Given the description of an element on the screen output the (x, y) to click on. 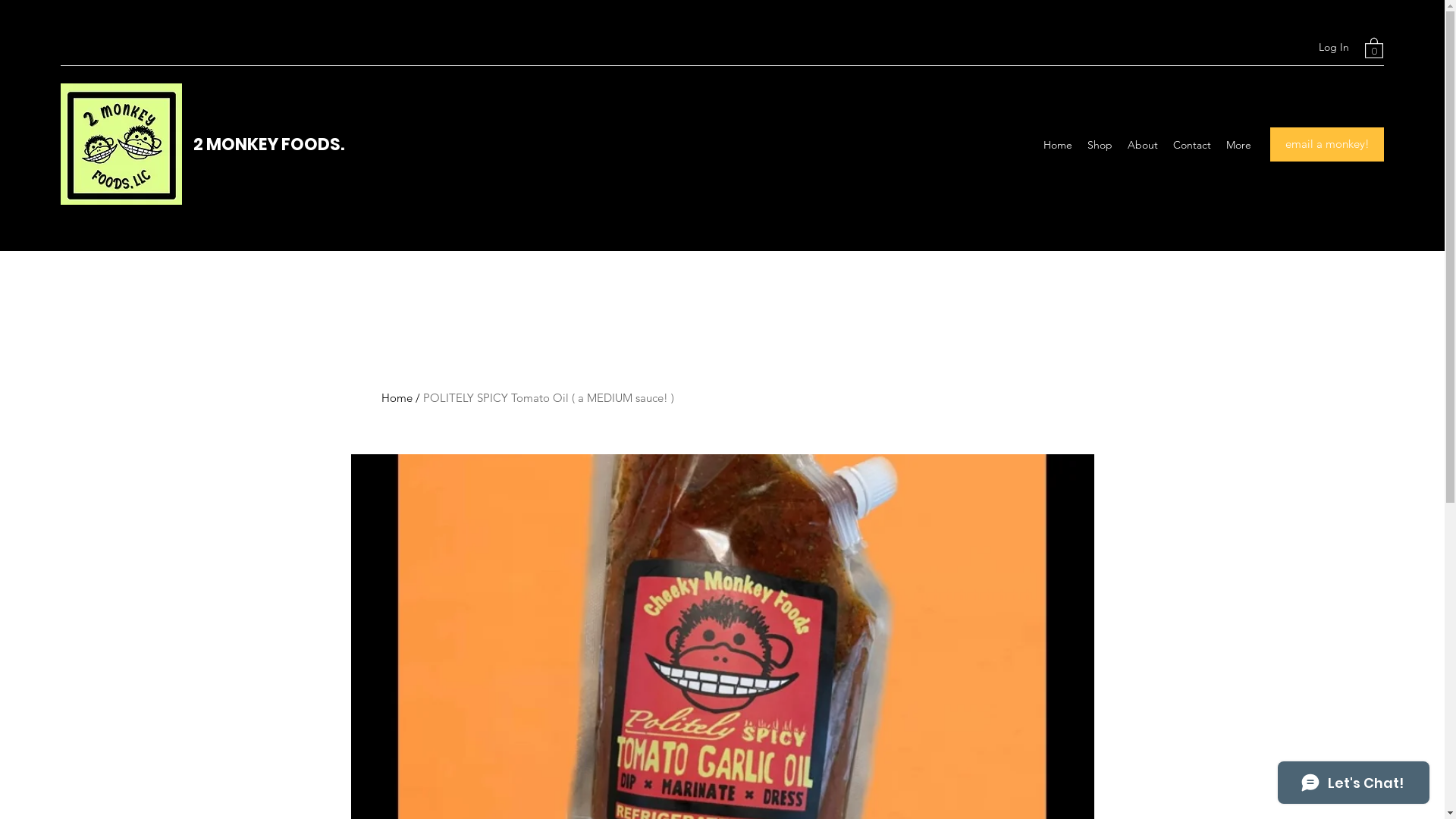
Home Element type: text (395, 397)
About Element type: text (1142, 144)
Home Element type: text (1057, 144)
Log In Element type: text (1333, 47)
Contact Element type: text (1191, 144)
2 MONKEY FOODS. Element type: text (268, 144)
POLITELY SPICY Tomato Oil ( a MEDIUM sauce! ) Element type: text (548, 397)
Shop Element type: text (1099, 144)
0 Element type: text (1374, 47)
email a monkey! Element type: text (1326, 144)
